Given the description of an element on the screen output the (x, y) to click on. 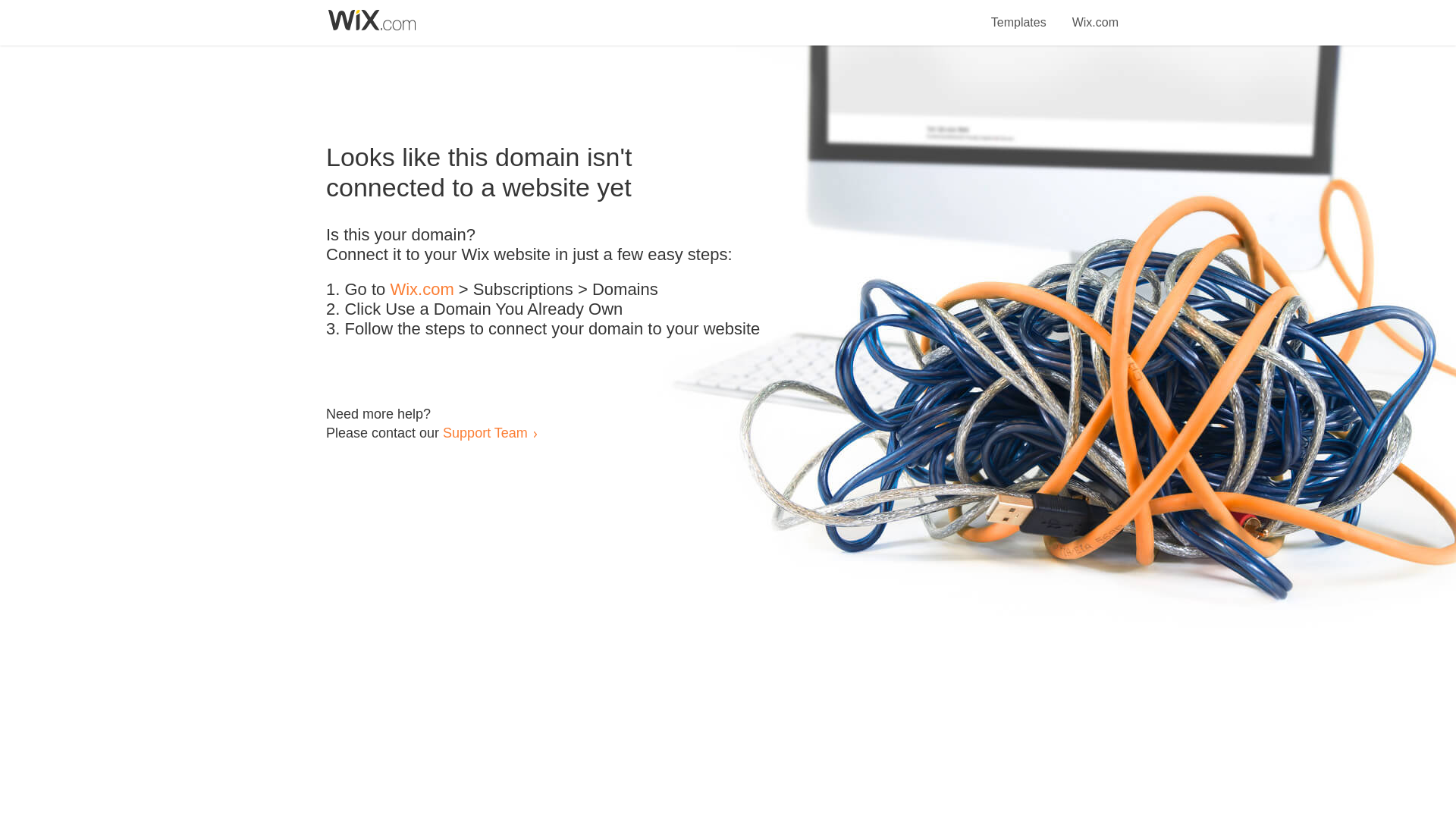
Templates (1018, 14)
Support Team (484, 432)
Wix.com (1095, 14)
Wix.com (421, 289)
